Given the description of an element on the screen output the (x, y) to click on. 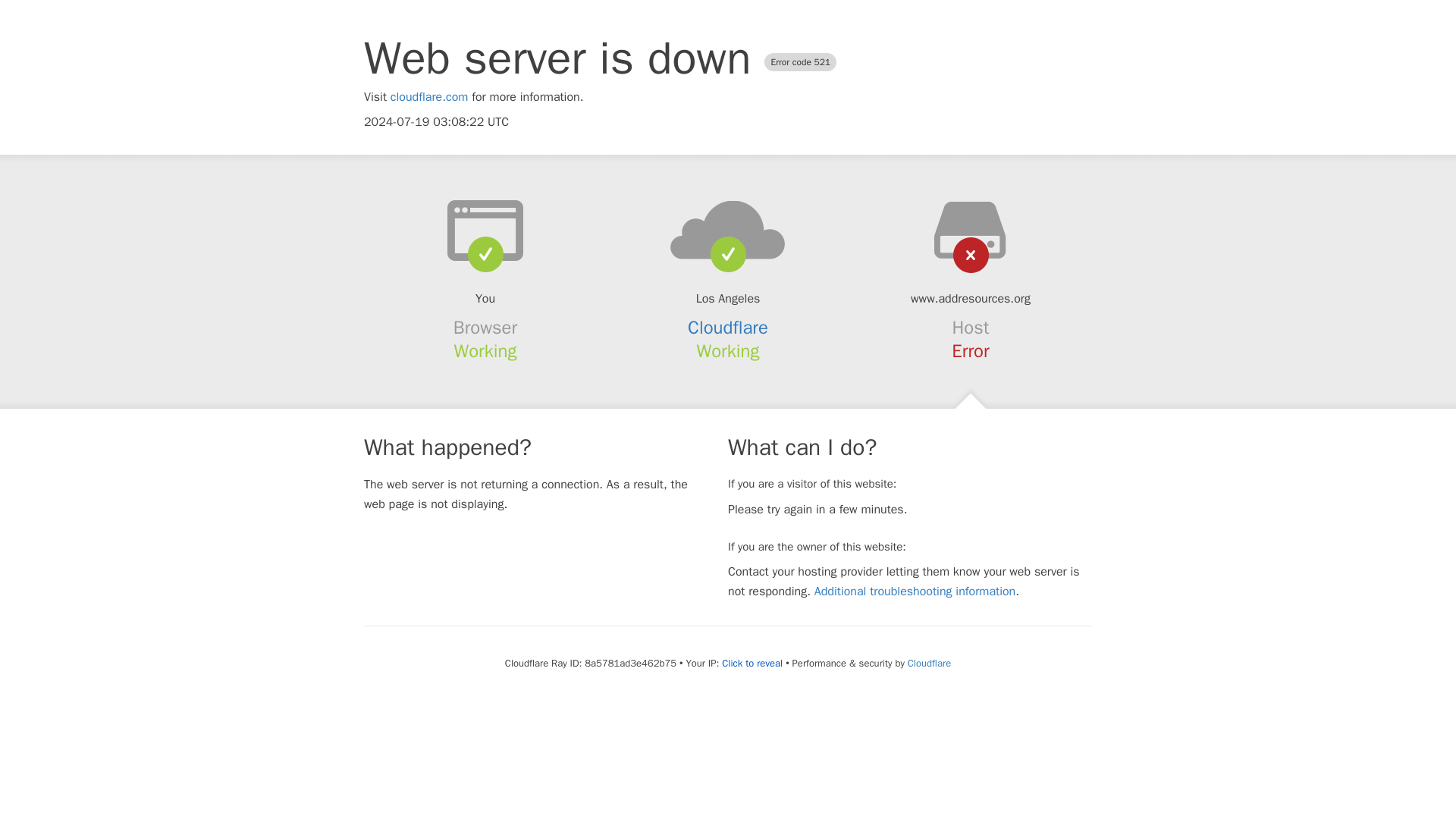
Click to reveal (752, 663)
cloudflare.com (429, 96)
Cloudflare (928, 662)
Additional troubleshooting information (913, 590)
Cloudflare (727, 327)
